Given the description of an element on the screen output the (x, y) to click on. 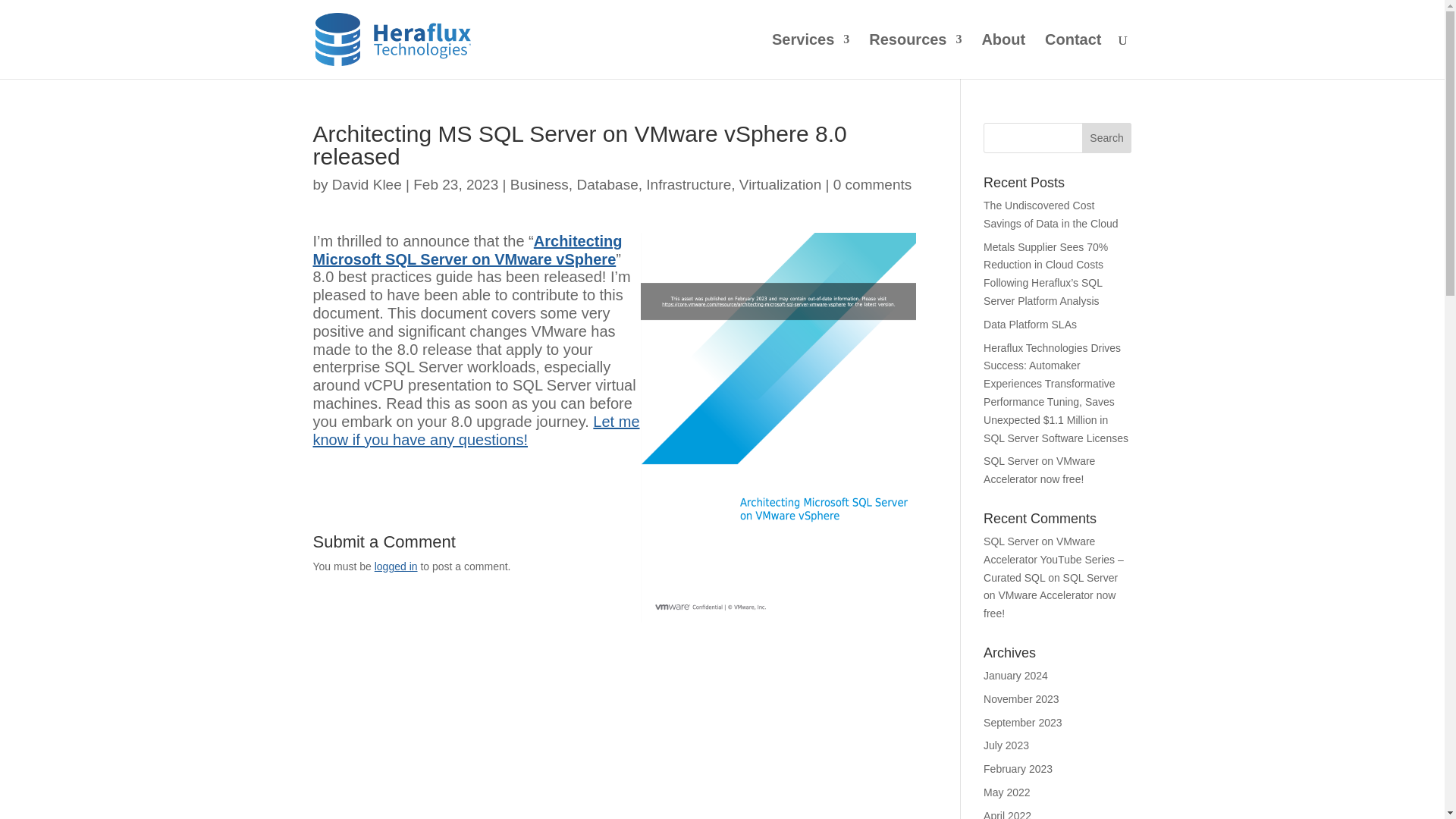
Services (809, 56)
David Klee (366, 184)
Infrastructure (688, 184)
Database (606, 184)
SQL Server on VMware Accelerator now free! (1039, 470)
logged in (395, 566)
Architecting Microsoft SQL Server on VMware vSphere (467, 249)
0 comments (871, 184)
Let me know if you have any questions! (476, 430)
About (1003, 56)
Search (1106, 137)
Resources (914, 56)
Virtualization (780, 184)
Posts by David Klee (366, 184)
Business (540, 184)
